Given the description of an element on the screen output the (x, y) to click on. 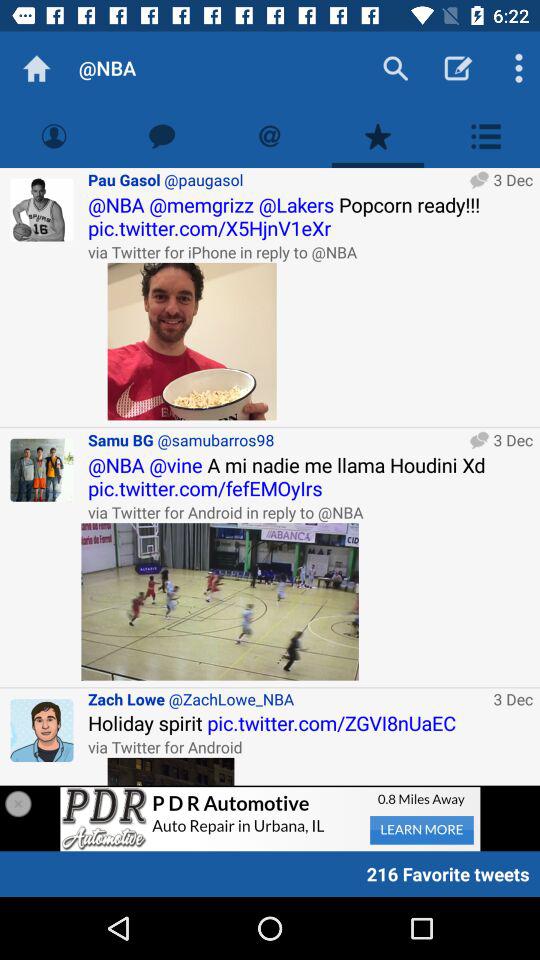
select the samu bg @samubarros98 (275, 439)
